Given the description of an element on the screen output the (x, y) to click on. 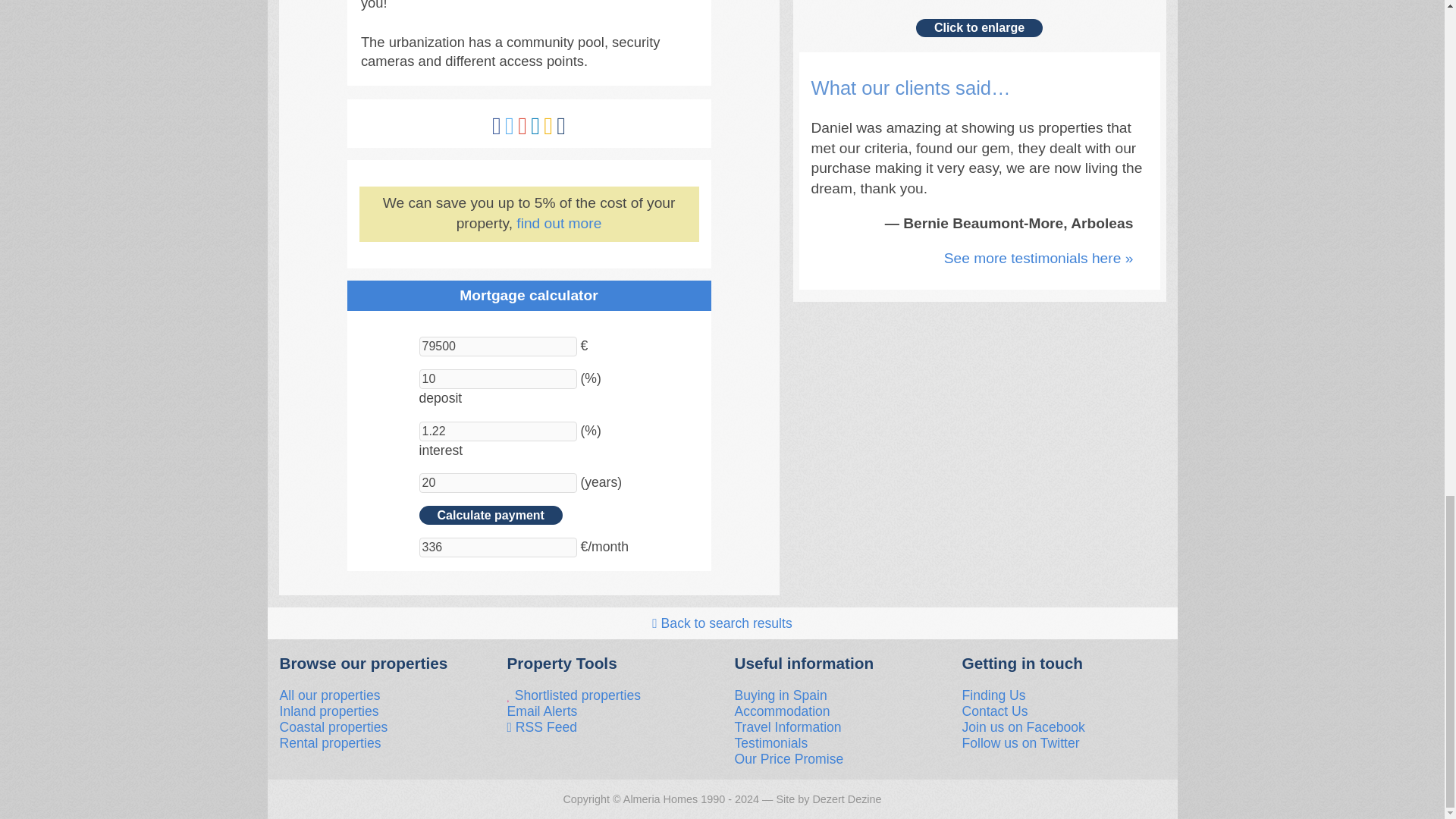
Inland properties (328, 711)
Calculate payment (490, 515)
All our properties (329, 694)
10 (497, 379)
1.22 (497, 431)
find out more (558, 222)
Click to enlarge (978, 27)
20 (497, 483)
79500 (497, 346)
336 (497, 547)
